Given the description of an element on the screen output the (x, y) to click on. 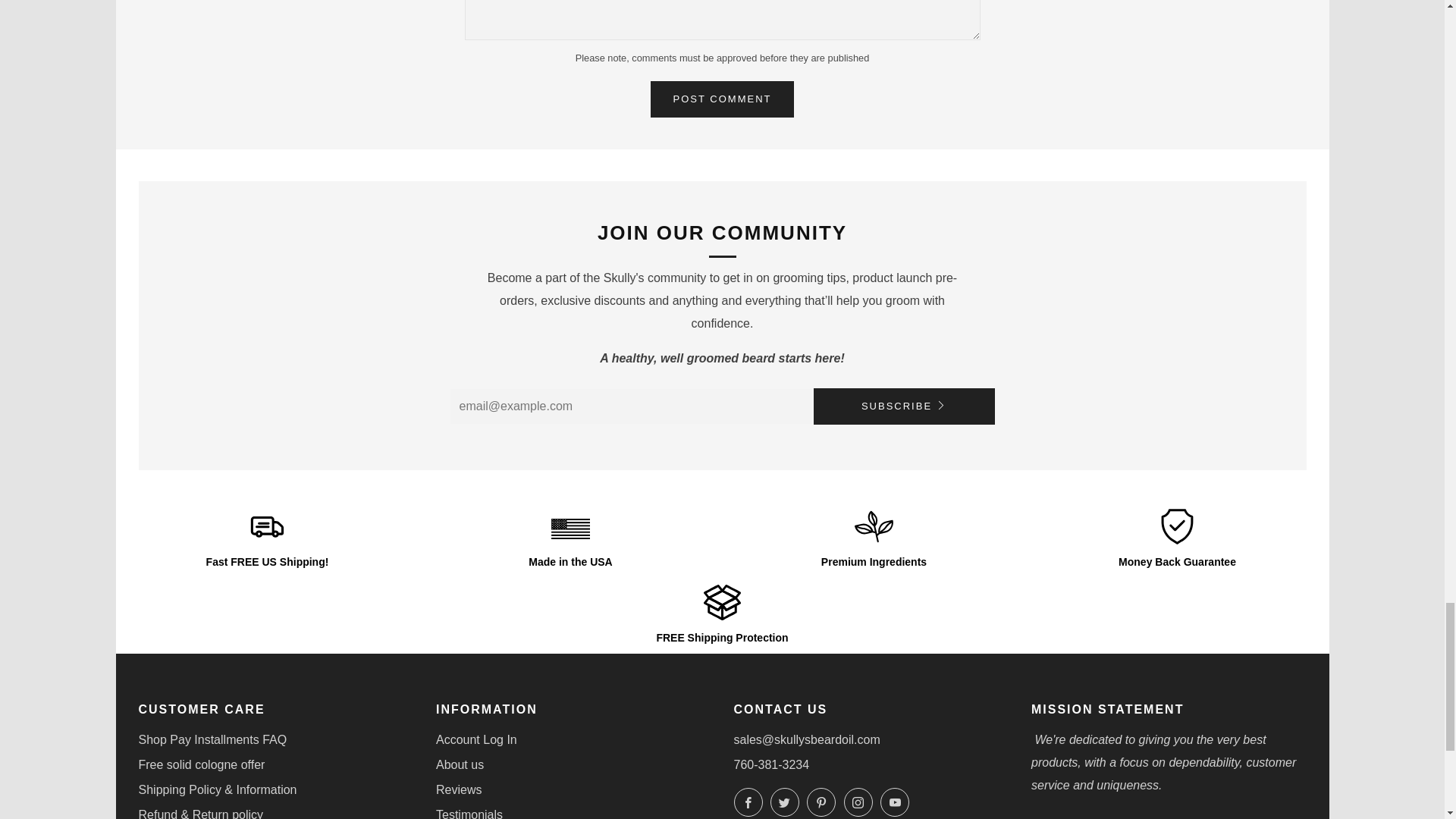
Post comment (722, 99)
